Given the description of an element on the screen output the (x, y) to click on. 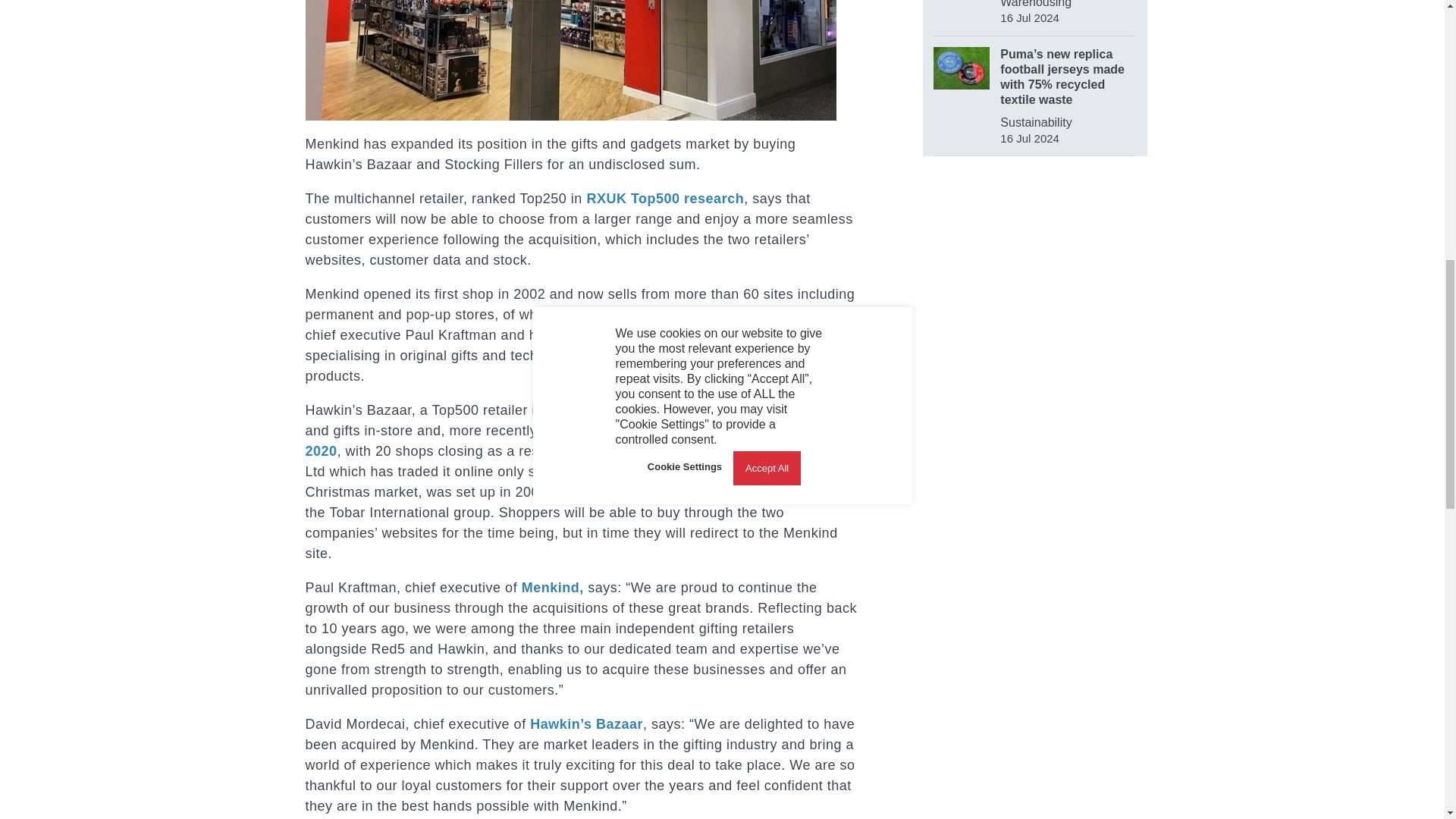
3rd party ad content (1035, 485)
3rd party ad content (1034, 273)
